Given the description of an element on the screen output the (x, y) to click on. 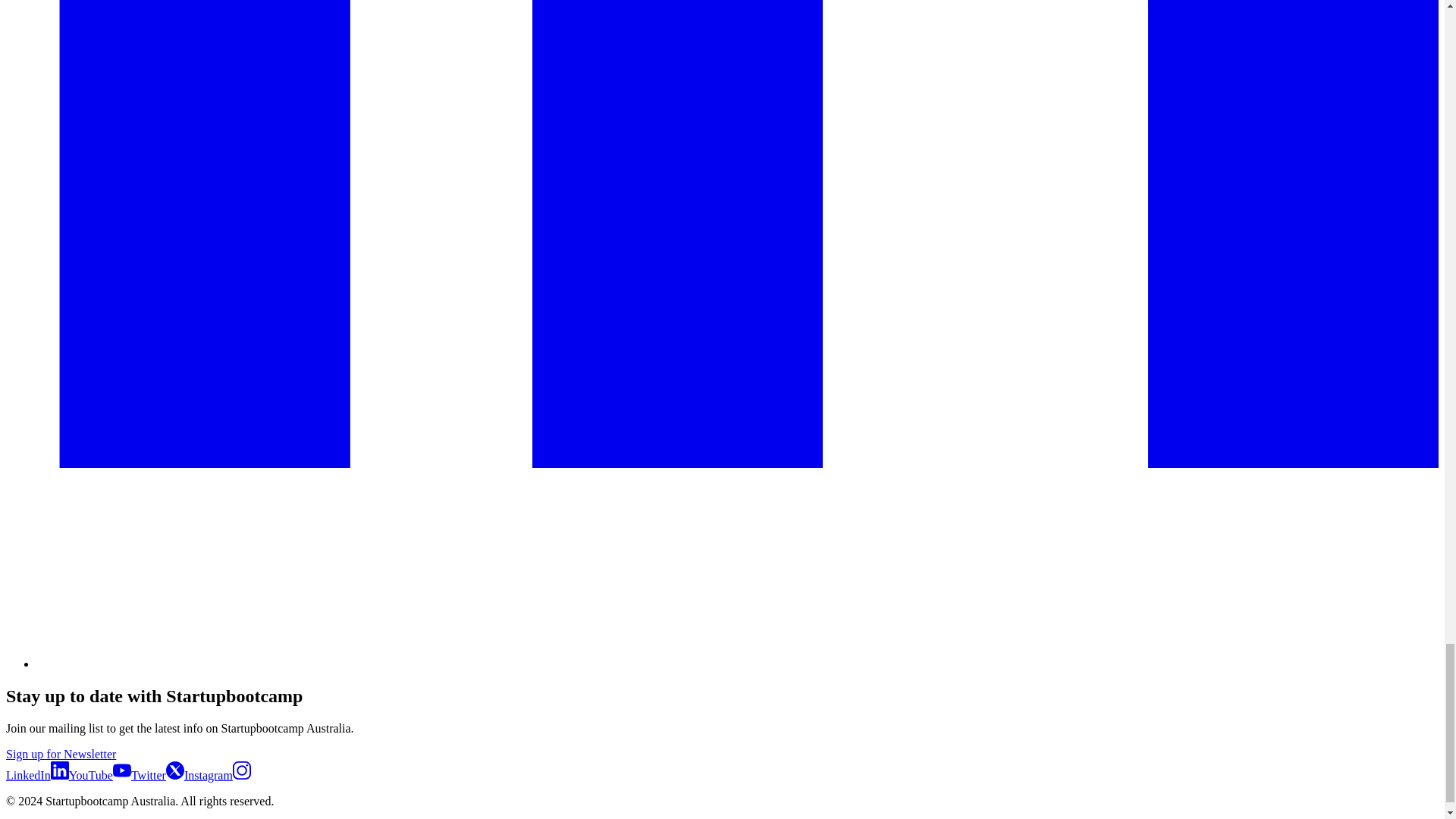
Sign up for Newsletter (60, 753)
Instagram (217, 775)
Twitter (157, 775)
LinkedIn (36, 775)
YouTube (99, 775)
